Given the description of an element on the screen output the (x, y) to click on. 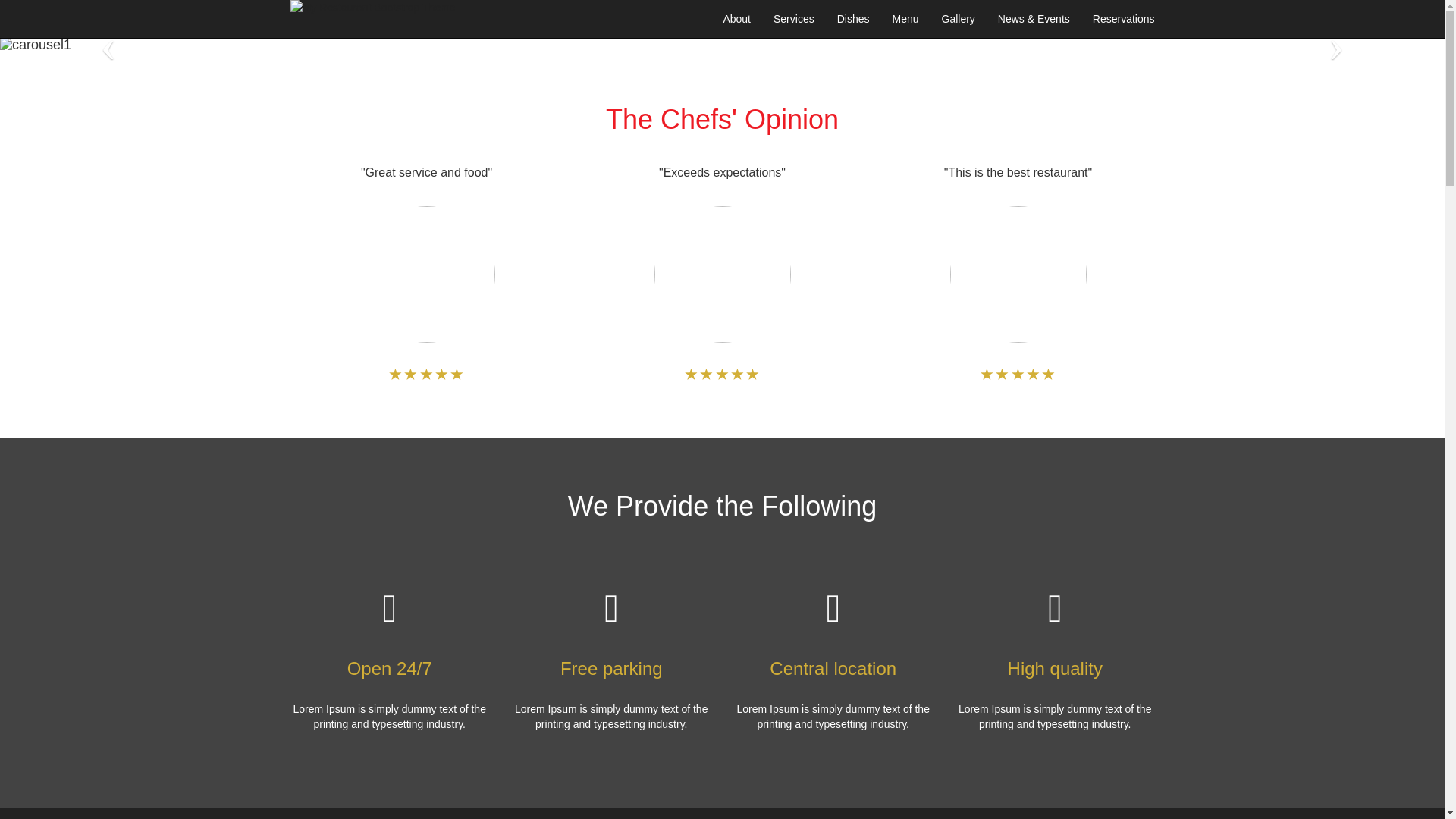
About Element type: text (736, 18)
Services Element type: text (793, 18)
News & Events Element type: text (1033, 18)
Gallery Element type: text (957, 18)
Menu Element type: text (904, 18)
Reservations Element type: text (1123, 18)
My Restaurant Bootstrap Theme Element type: hover (372, 7)
Dishes Element type: text (853, 18)
